Given the description of an element on the screen output the (x, y) to click on. 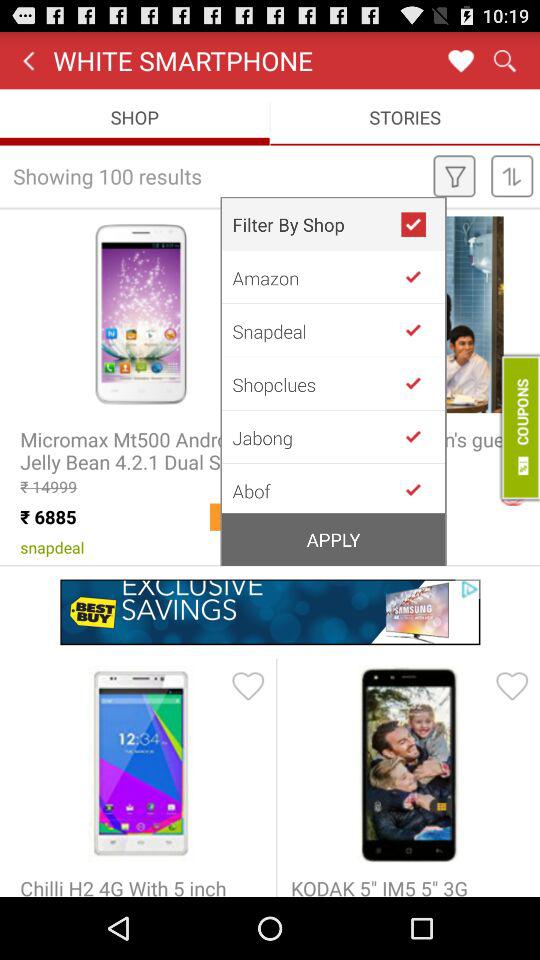
toggle to include or exclude the shop from the current search results (421, 276)
